Given the description of an element on the screen output the (x, y) to click on. 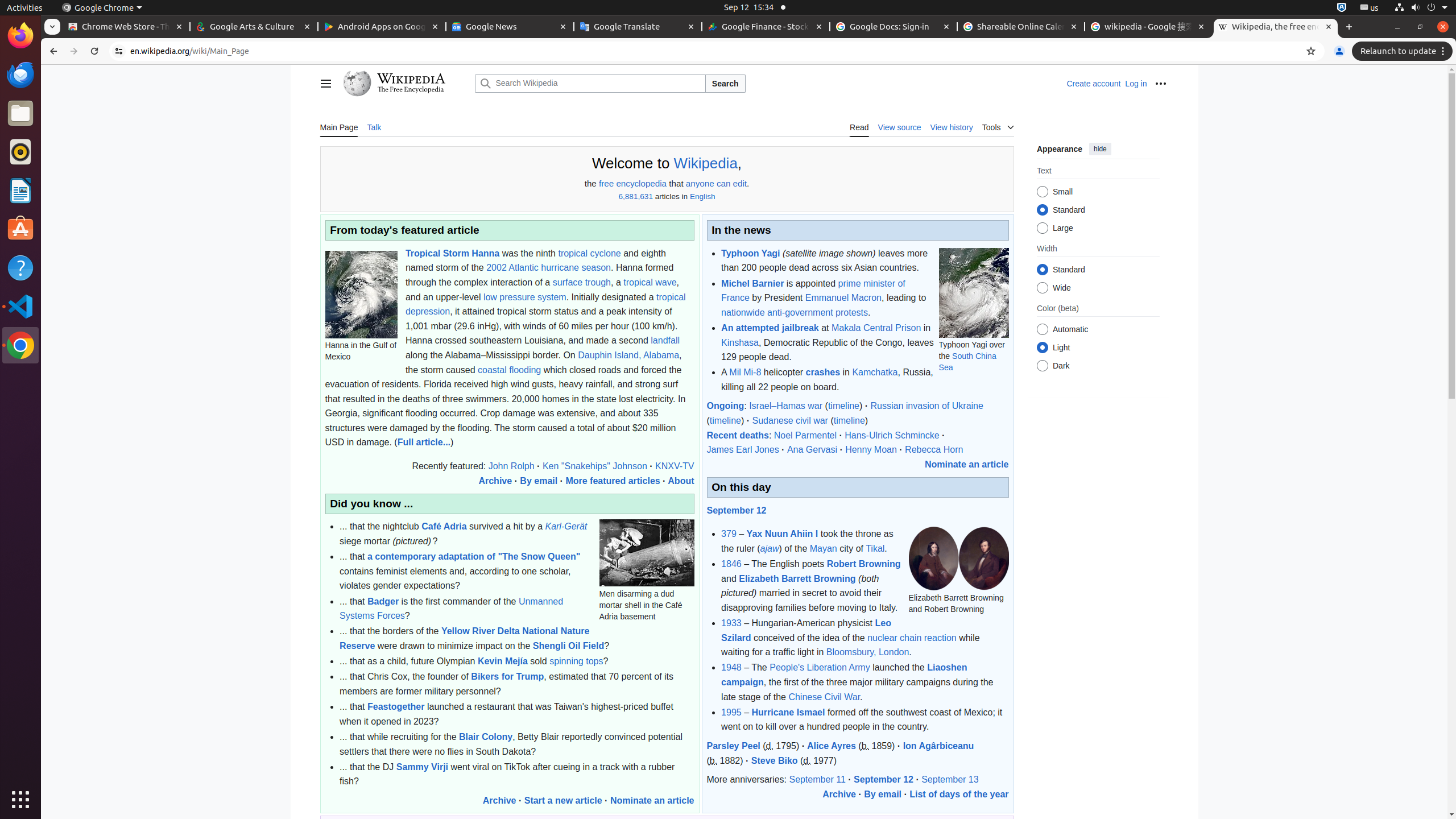
Karl-Gerät Element type: link (565, 526)
Typhoon Yagi Element type: link (750, 252)
An attempted jailbreak Element type: link (770, 327)
Mayan Element type: link (823, 548)
Automatic Element type: radio-button (1042, 329)
